Given the description of an element on the screen output the (x, y) to click on. 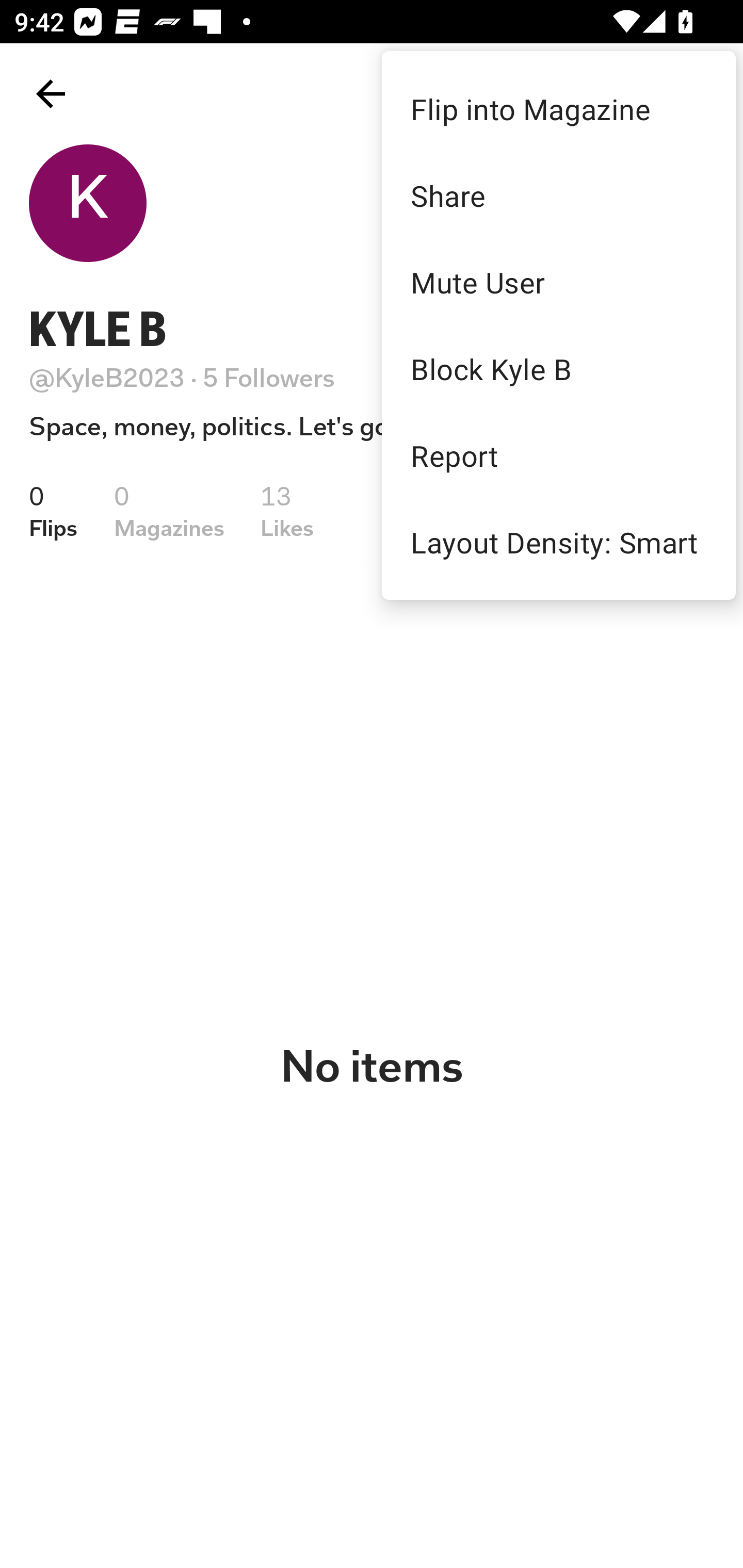
Flip into Magazine (558, 108)
Share (558, 195)
Mute User (558, 282)
Block Kyle B (558, 369)
Report (558, 455)
Layout Density: Smart (558, 541)
